Given the description of an element on the screen output the (x, y) to click on. 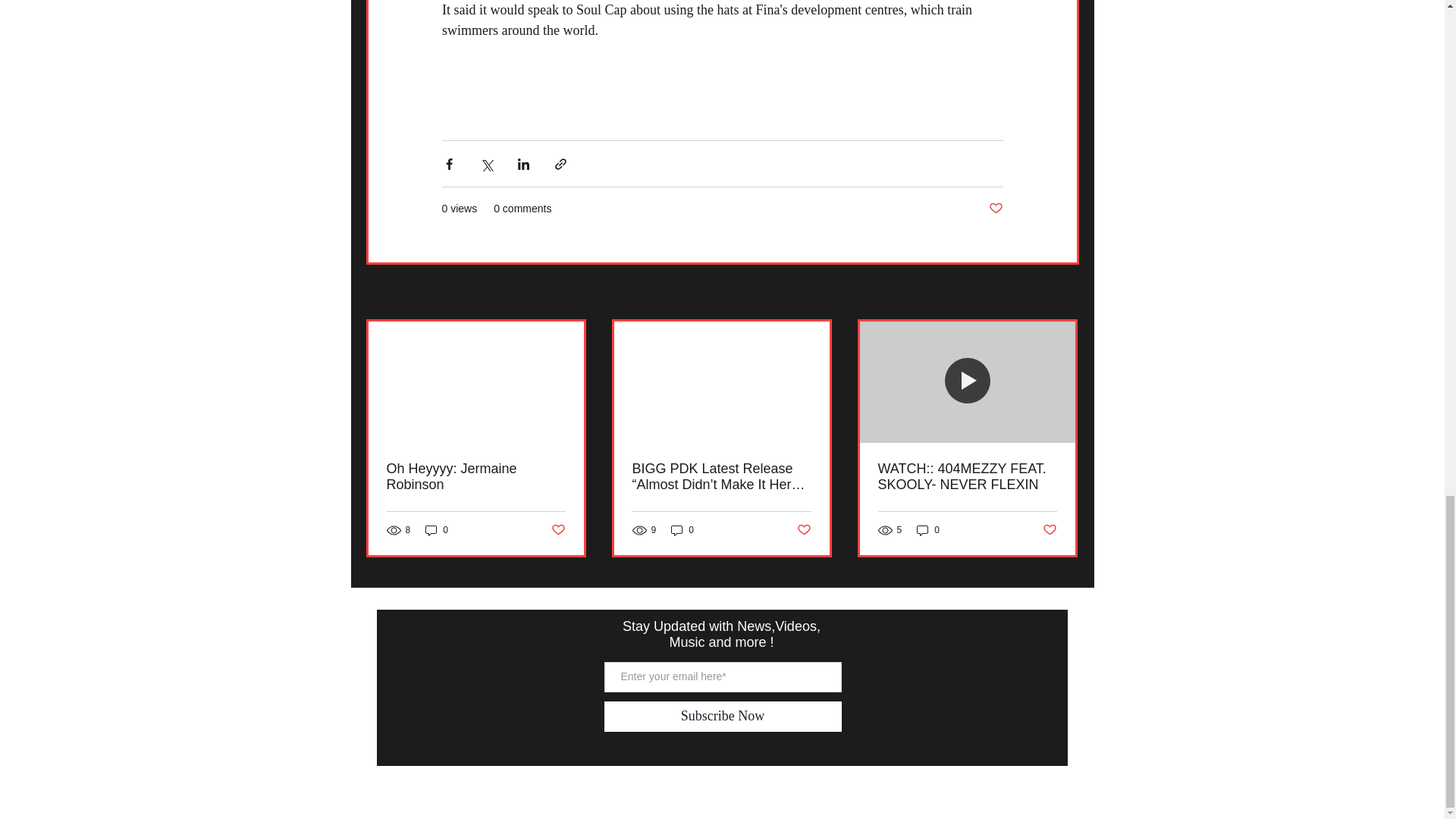
Oh Heyyyy: Jermaine Robinson (476, 477)
WATCH:: 404MEZZY FEAT. SKOOLY- NEVER FLEXIN (967, 477)
Post not marked as liked (557, 529)
See All (1061, 292)
0 (682, 530)
Subscribe Now (722, 716)
Post not marked as liked (1049, 529)
Post not marked as liked (803, 529)
Post not marked as liked (995, 208)
0 (927, 530)
0 (436, 530)
